Given the description of an element on the screen output the (x, y) to click on. 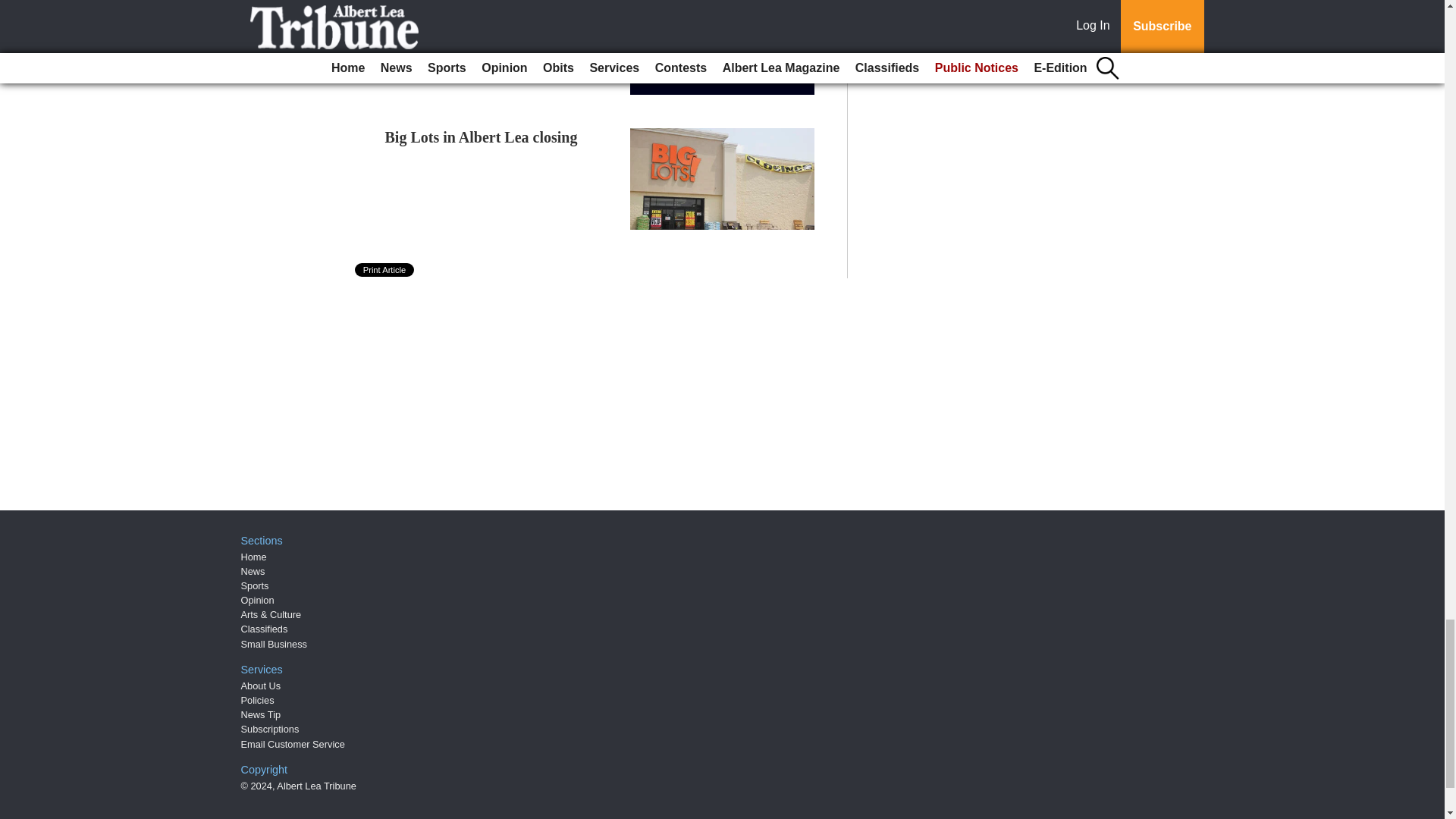
5 things to do this week (460, 4)
Big Lots in Albert Lea closing (481, 136)
